Given the description of an element on the screen output the (x, y) to click on. 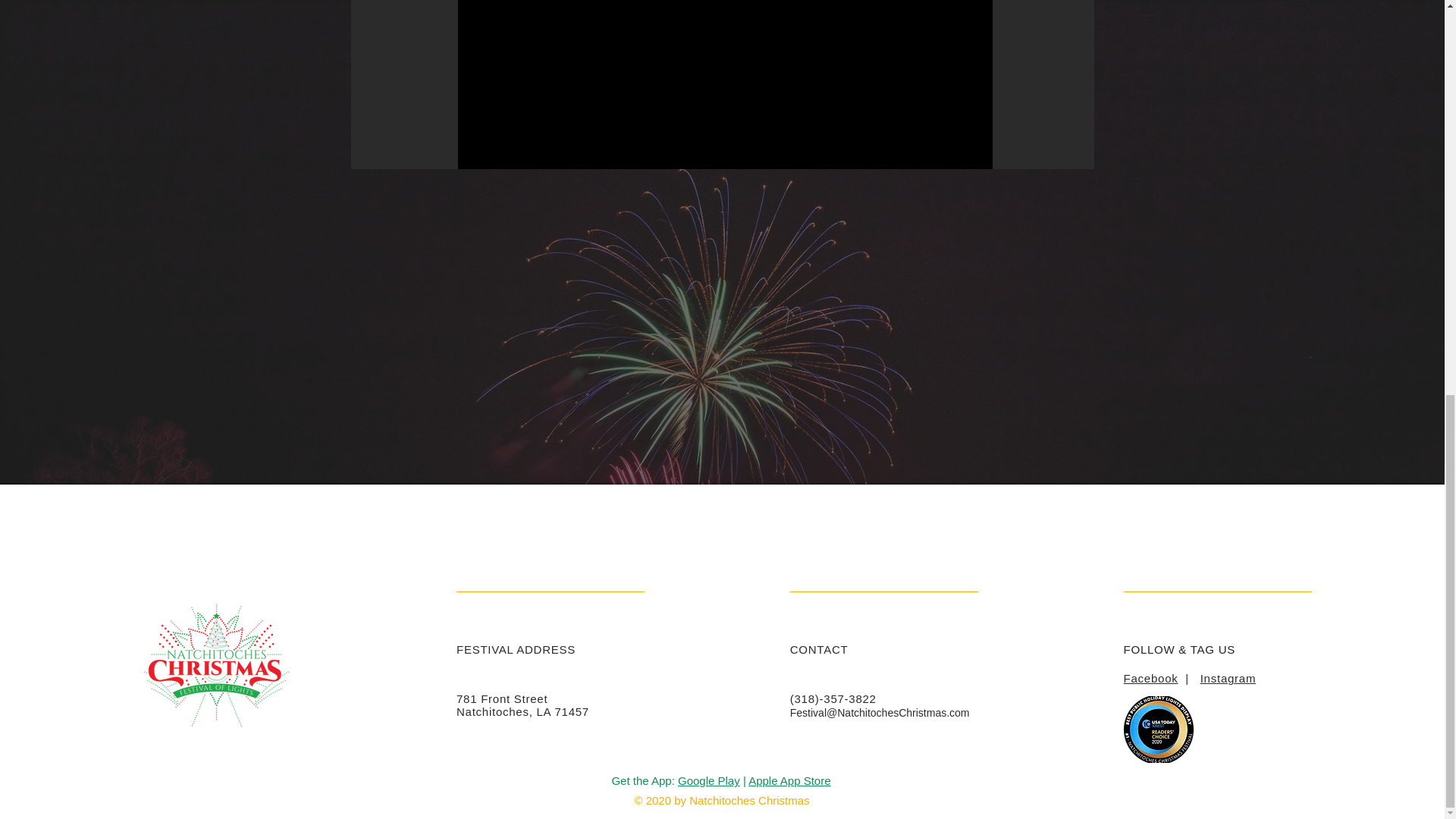
Facebook (1150, 677)
Apple App Store (788, 780)
Instagram (1227, 677)
Google Play (708, 780)
